Given the description of an element on the screen output the (x, y) to click on. 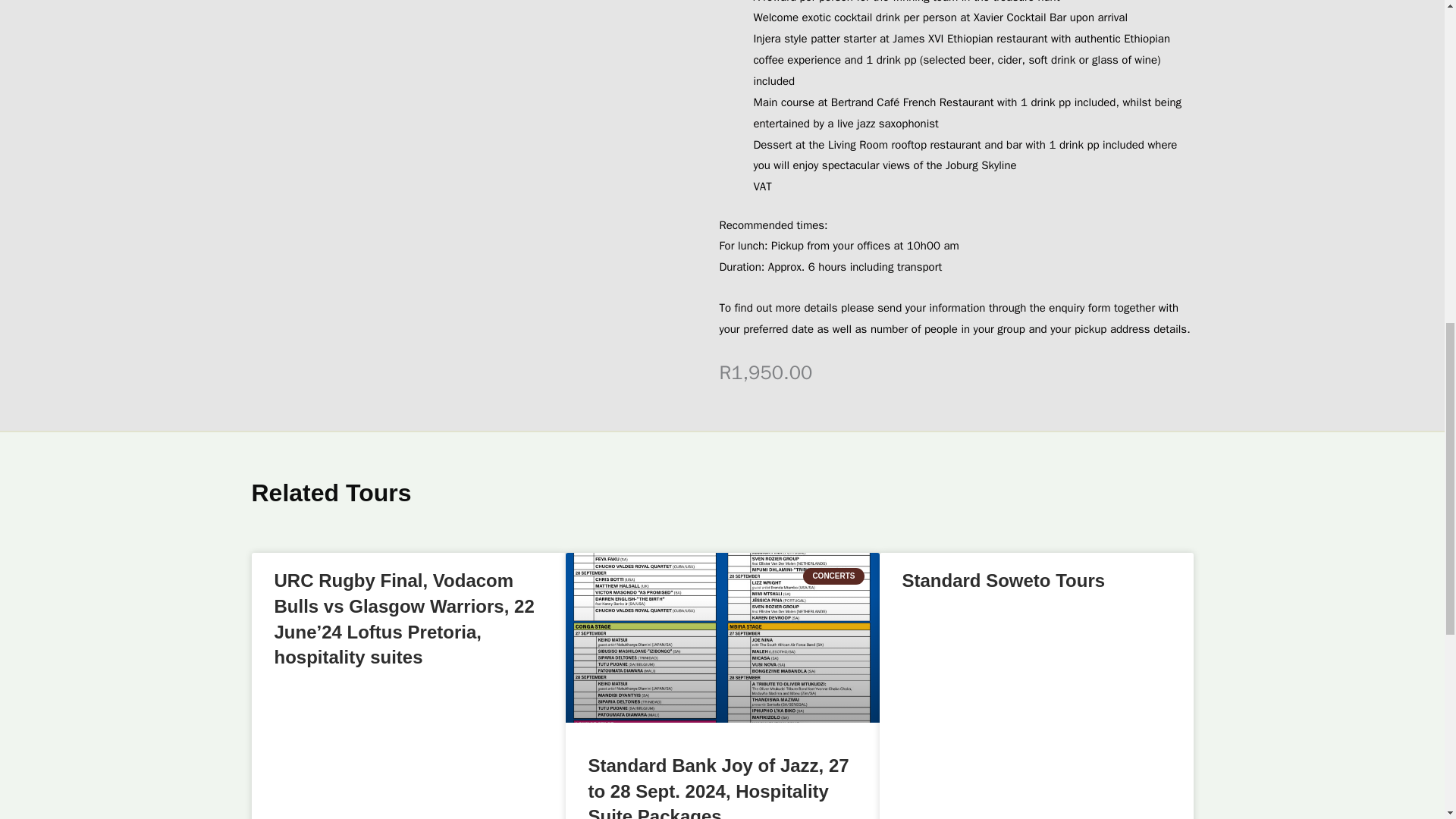
Standard Soweto Tours (1003, 580)
